Given the description of an element on the screen output the (x, y) to click on. 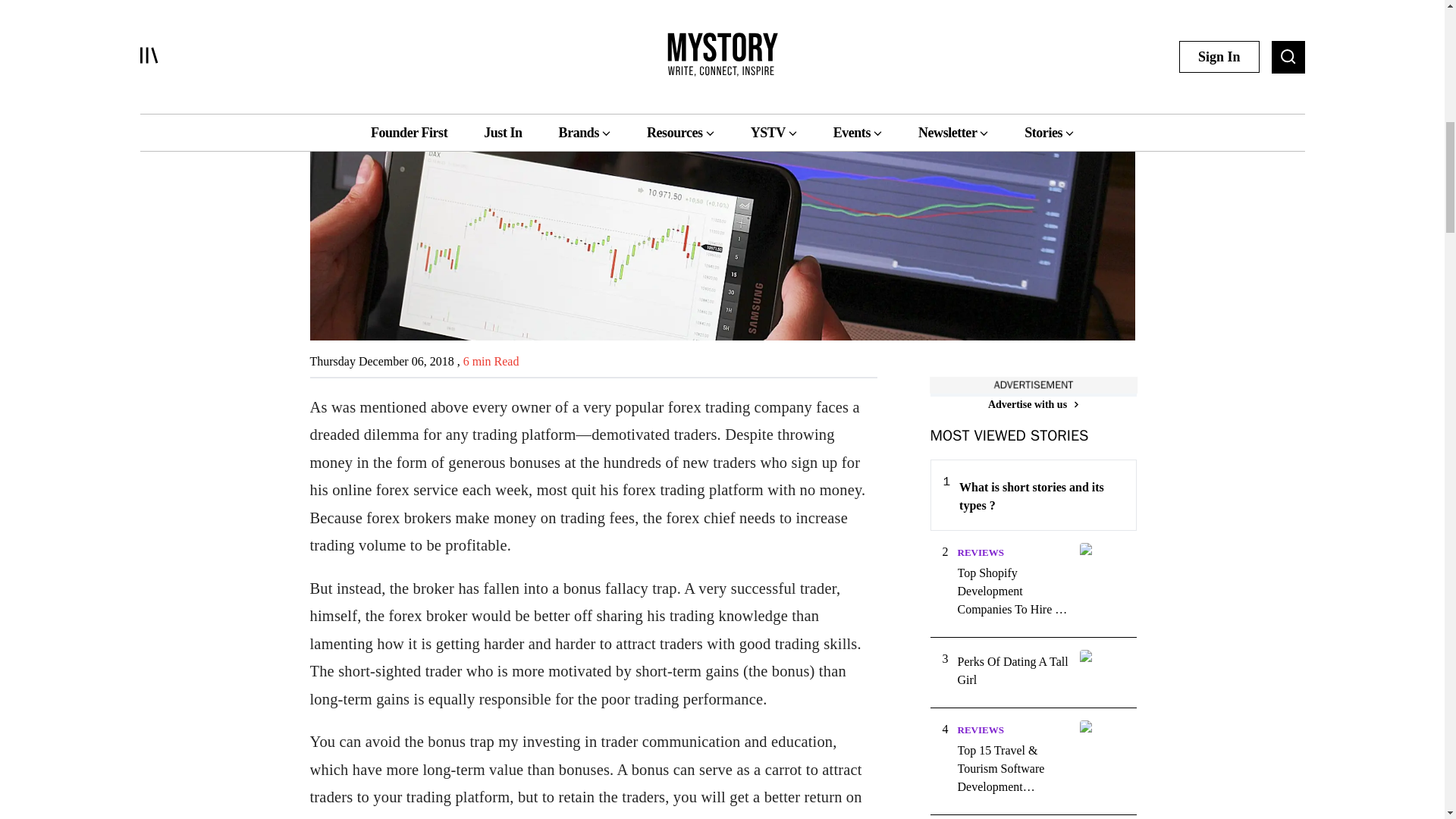
REVIEWS (979, 729)
REVIEWS (979, 552)
Top Shopify Development Companies To Hire In 2020 (1013, 591)
Perks Of Dating A Tall Girl (1013, 670)
Advertise with us (1032, 404)
What is short stories and its types ? (1040, 496)
